Given the description of an element on the screen output the (x, y) to click on. 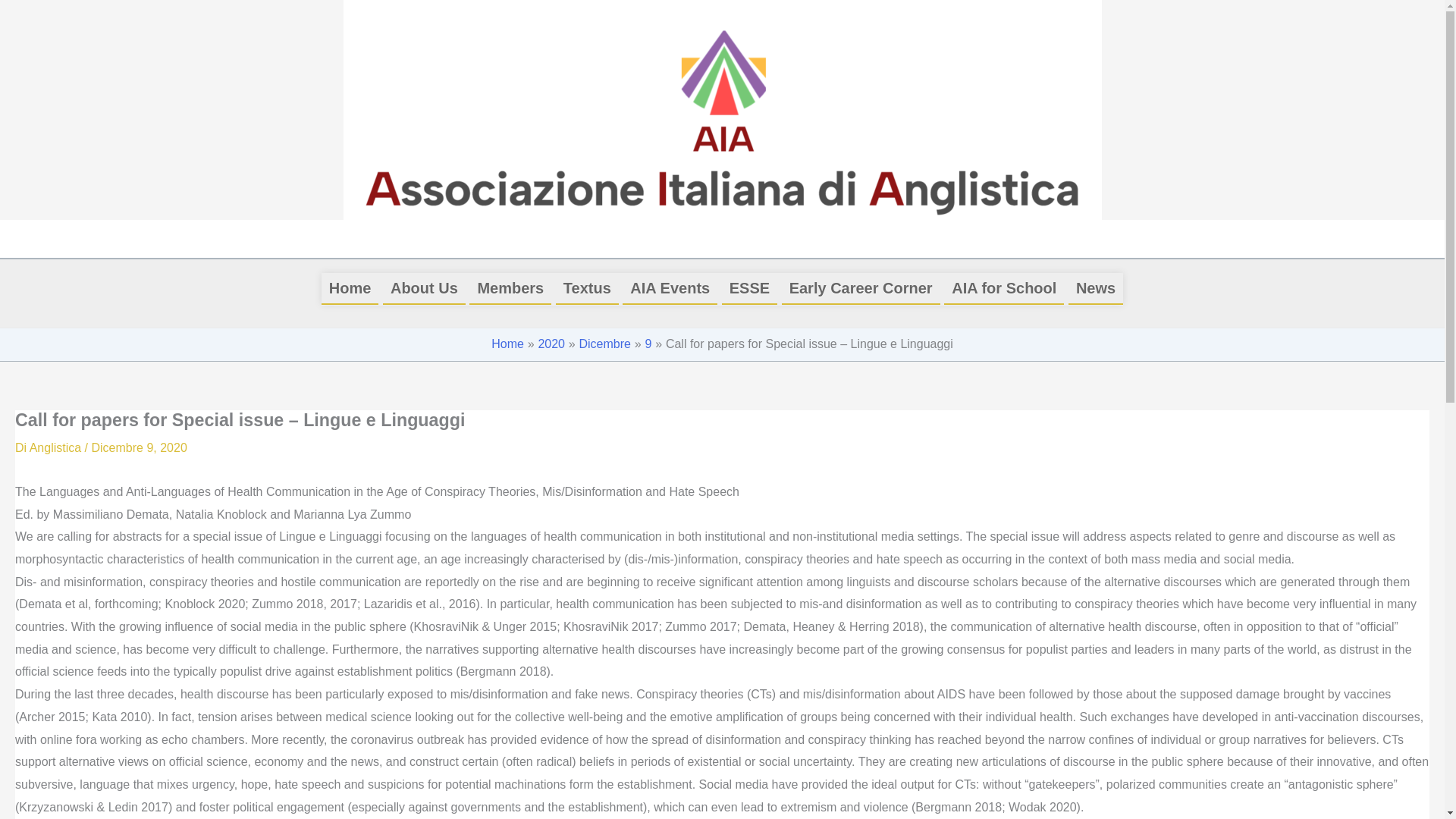
About Us (423, 287)
Members (509, 287)
Textus (587, 287)
AIA Events (670, 287)
Visualizza tutti gli articoli di Anglistica (56, 447)
Home (349, 287)
